Given the description of an element on the screen output the (x, y) to click on. 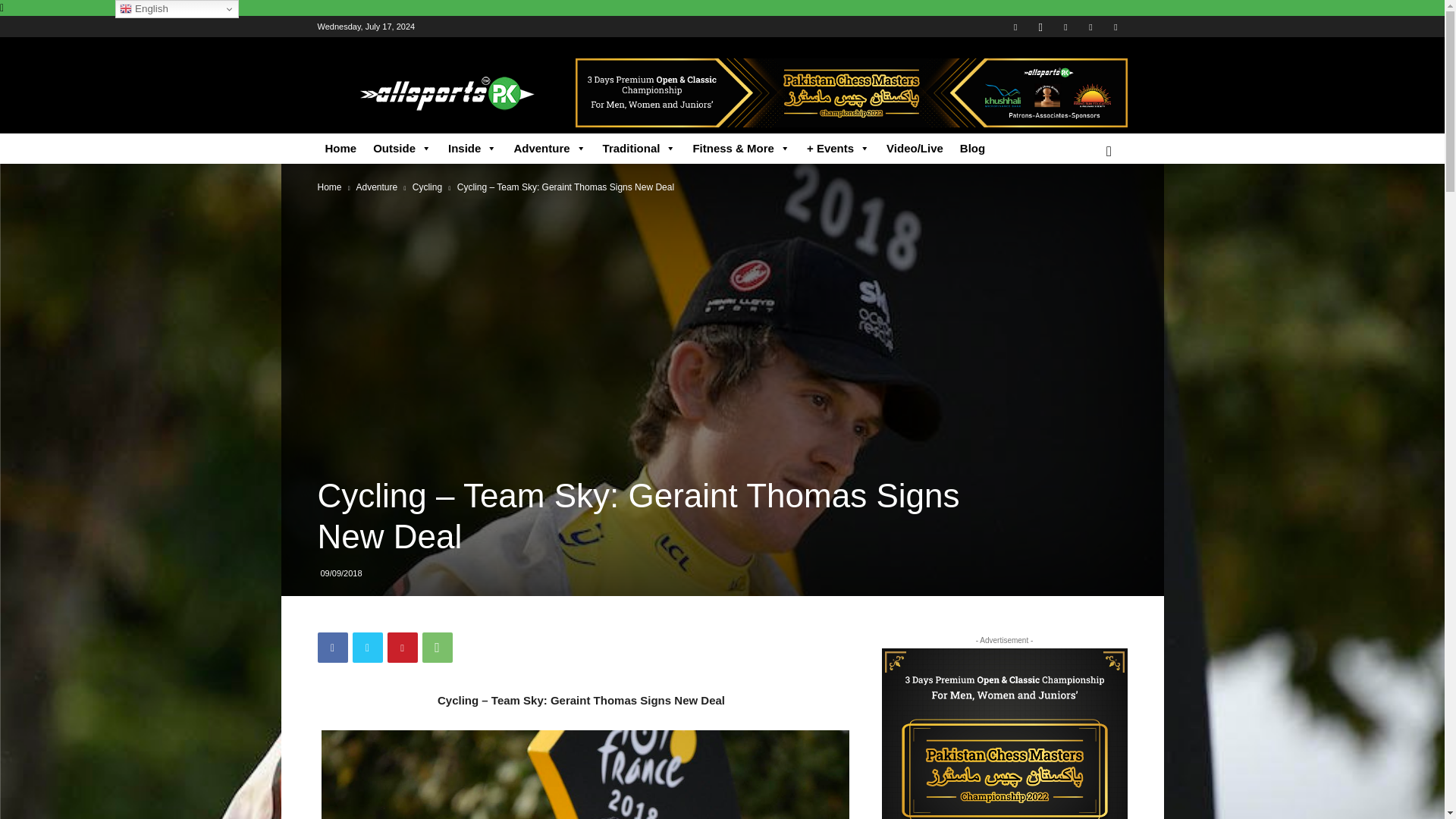
Linkedin (1065, 25)
Twitter (1090, 25)
Instagram (1040, 25)
View all posts in Cycling (427, 186)
Pinterest (401, 647)
Twitter (366, 647)
Facebook (332, 647)
Youtube (1114, 25)
WhatsApp (436, 647)
Facebook (1015, 25)
